Given the description of an element on the screen output the (x, y) to click on. 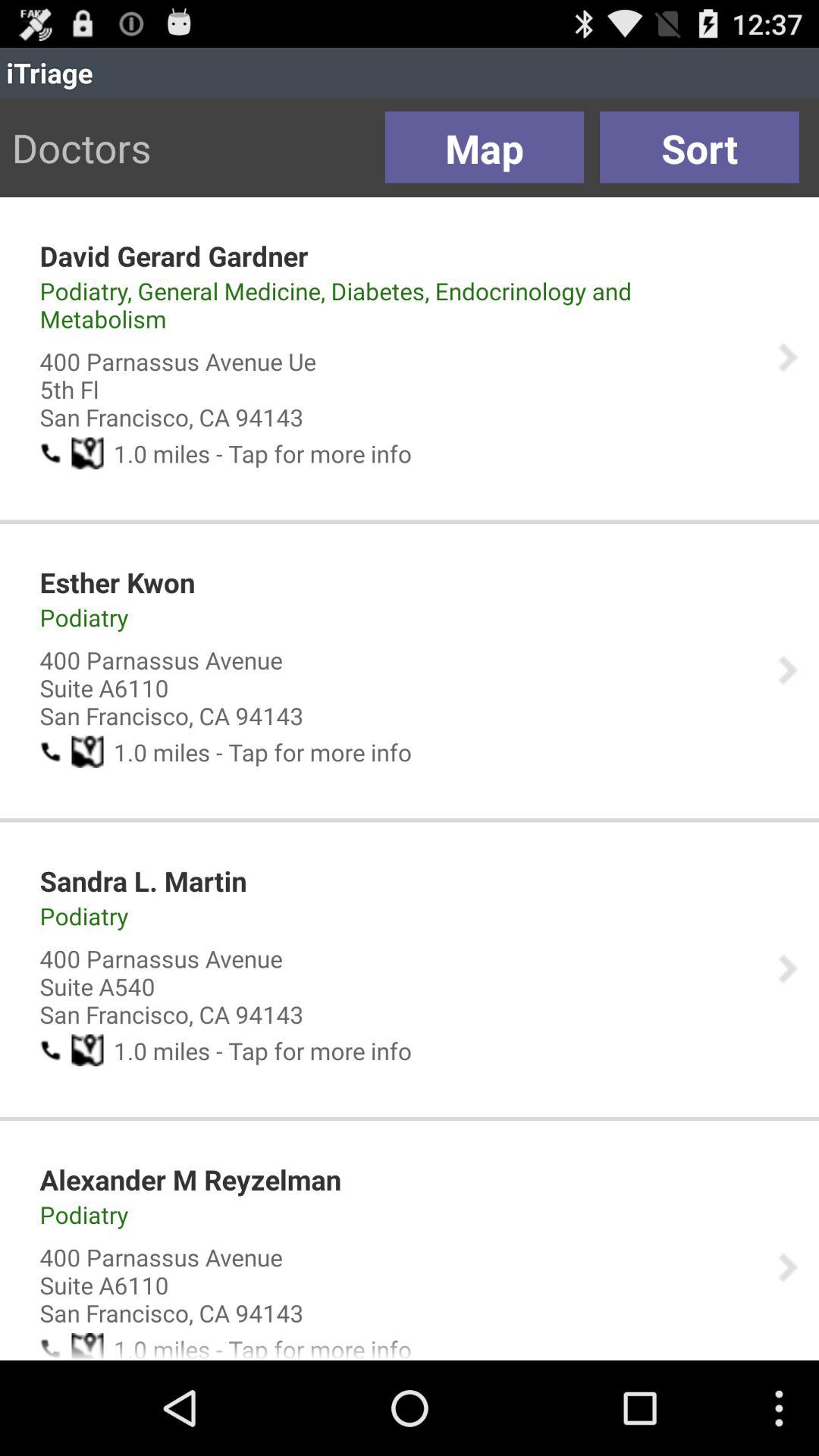
jump to alexander m reyzelman app (190, 1179)
